Given the description of an element on the screen output the (x, y) to click on. 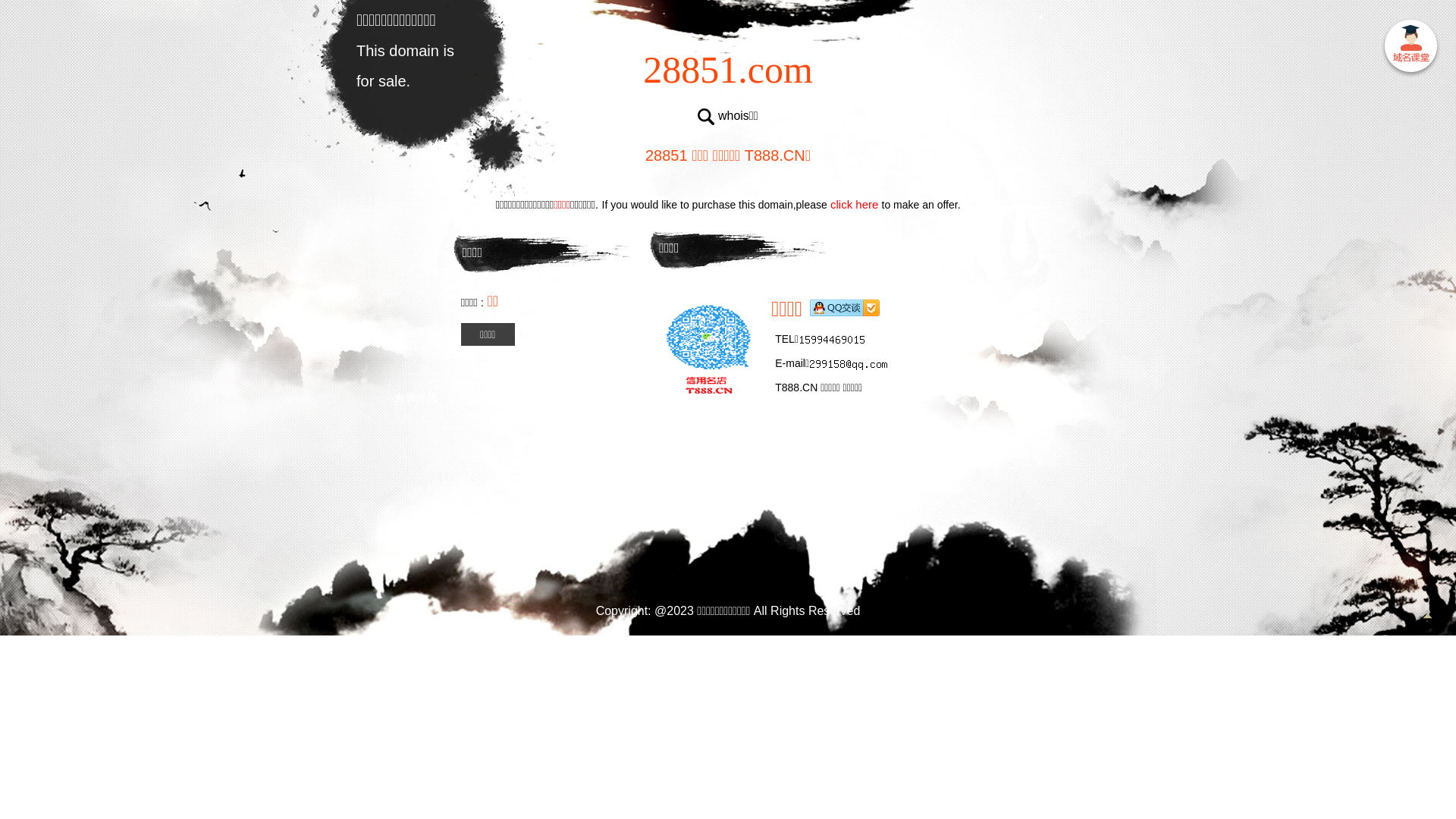
  Element type: text (1410, 48)
click here Element type: text (854, 203)
Advertisement Element type: hover (727, 507)
